Given the description of an element on the screen output the (x, y) to click on. 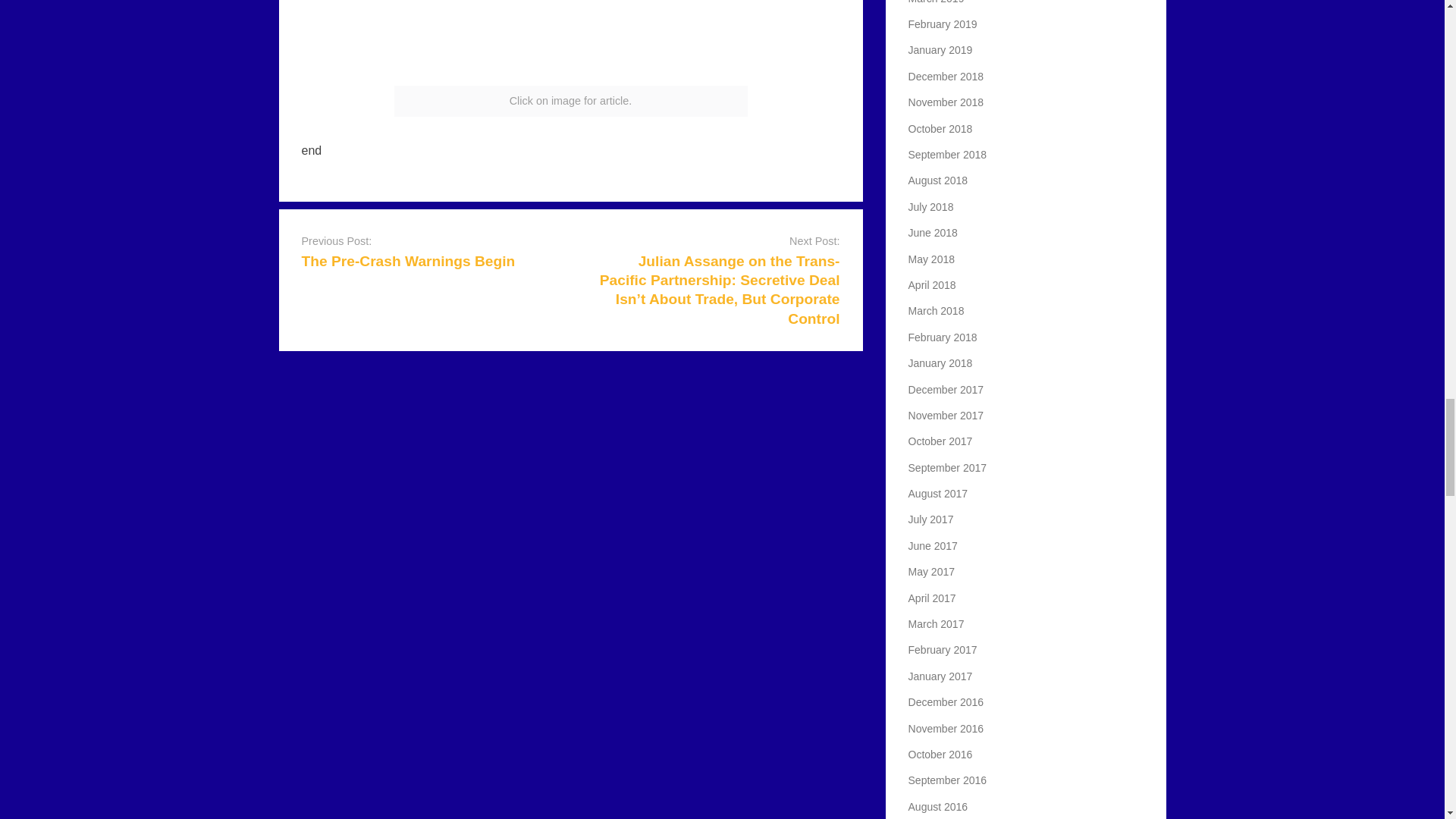
The Pre-Crash Warnings Begin (408, 261)
